Given the description of an element on the screen output the (x, y) to click on. 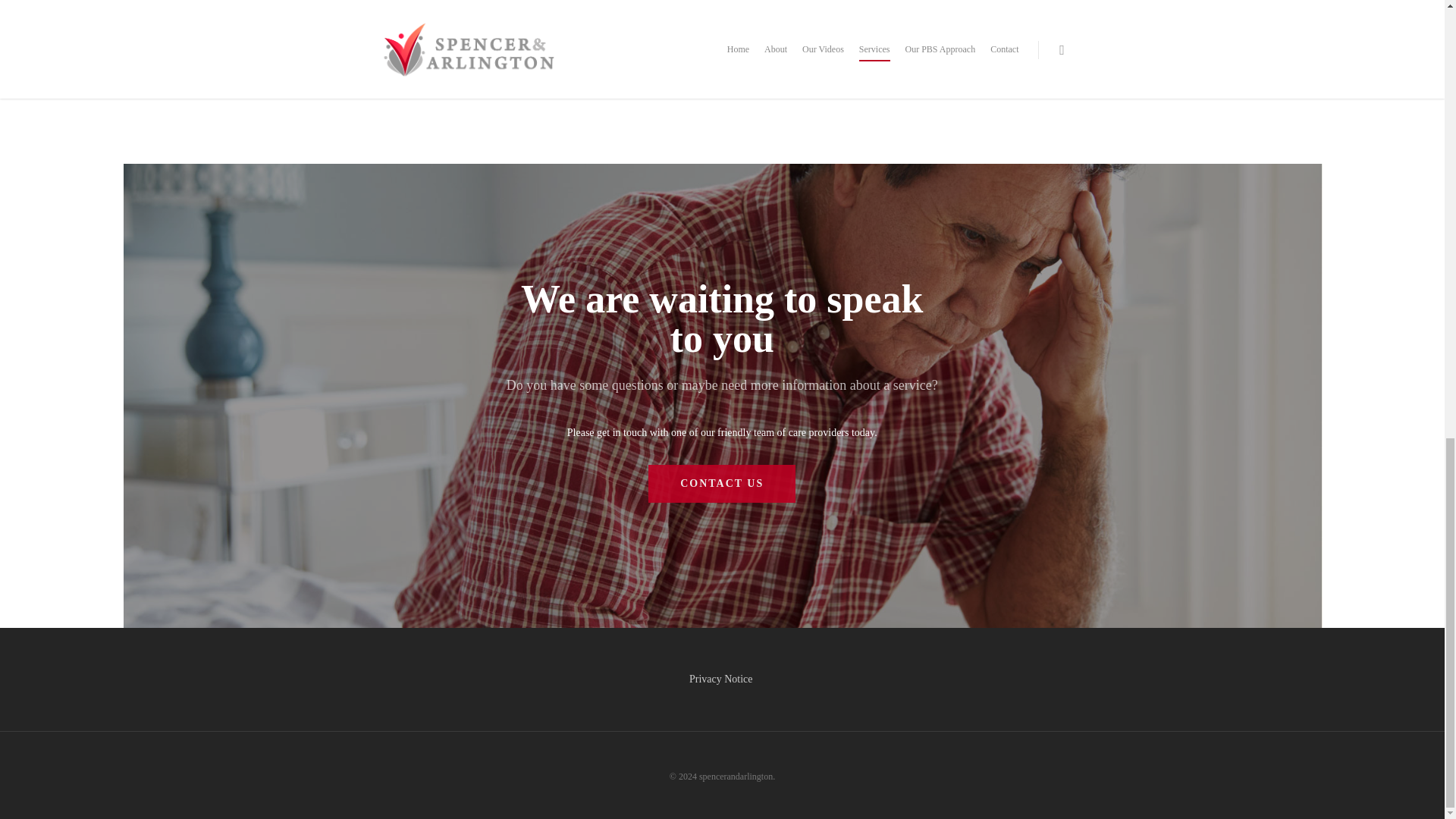
CONTACT US (720, 483)
Privacy Notice  (721, 678)
